Given the description of an element on the screen output the (x, y) to click on. 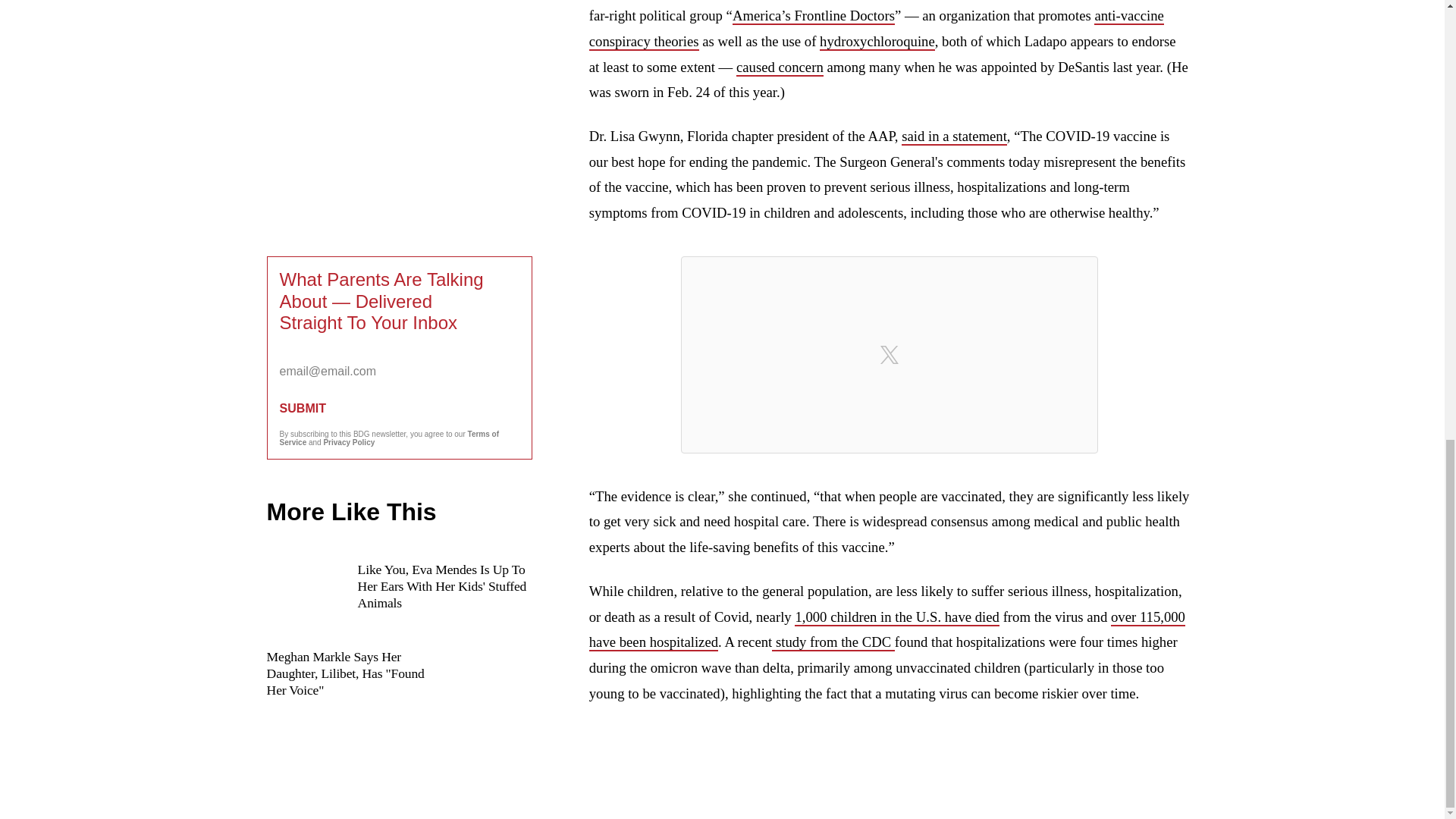
Terms of Service (389, 437)
study from the CDC (833, 642)
Privacy Policy (348, 442)
over 115,000 have been hospitalized (887, 629)
anti-vaccine conspiracy theories (876, 28)
hydroxychloroquine (876, 41)
SUBMIT (399, 408)
caused concern (780, 67)
